Given the description of an element on the screen output the (x, y) to click on. 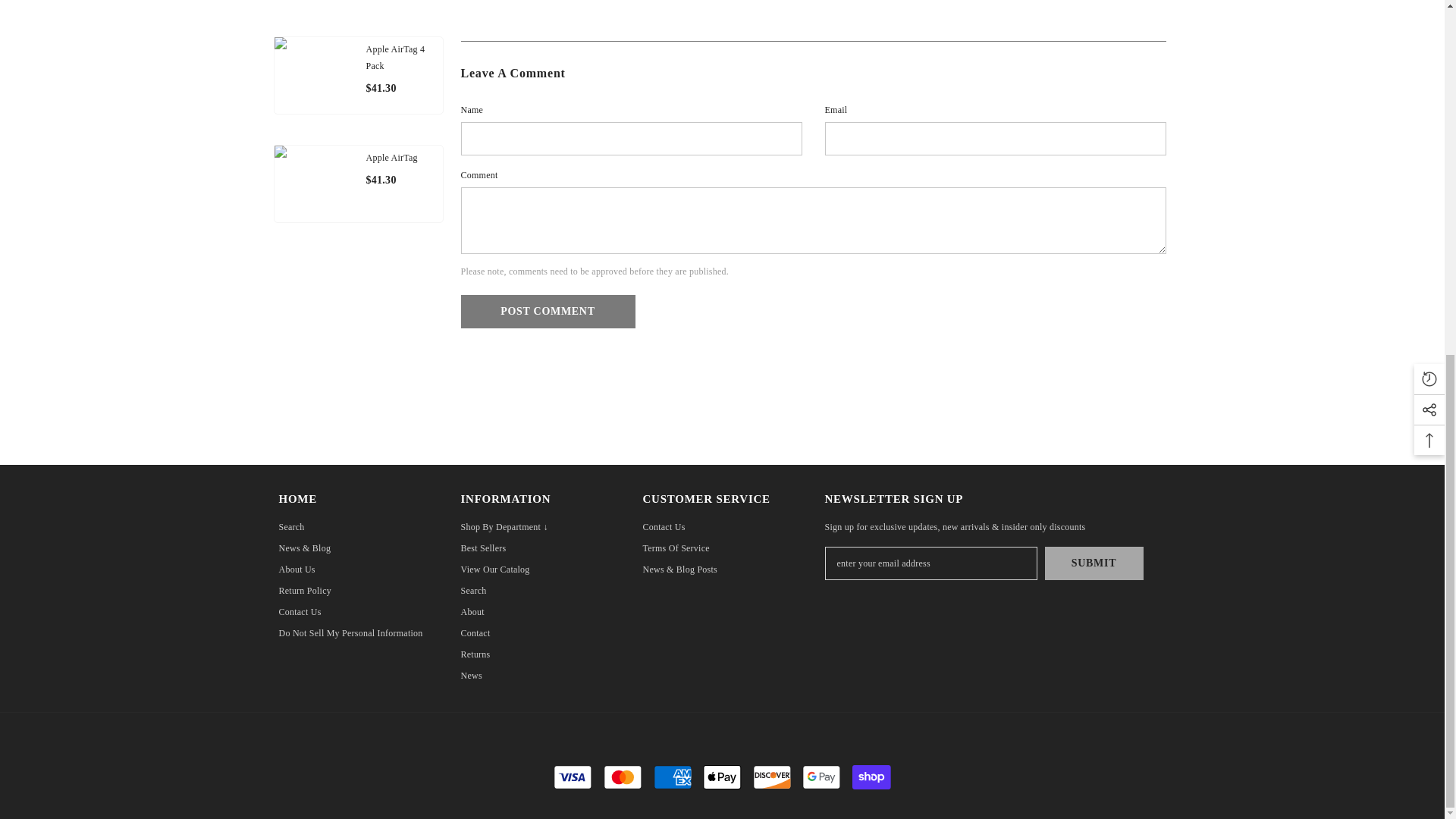
Google Pay (821, 776)
Apple Pay (722, 776)
Discover (772, 776)
Visa (572, 776)
Post comment (547, 311)
American Express (672, 776)
Shop Pay (871, 776)
Mastercard (623, 776)
